Given the description of an element on the screen output the (x, y) to click on. 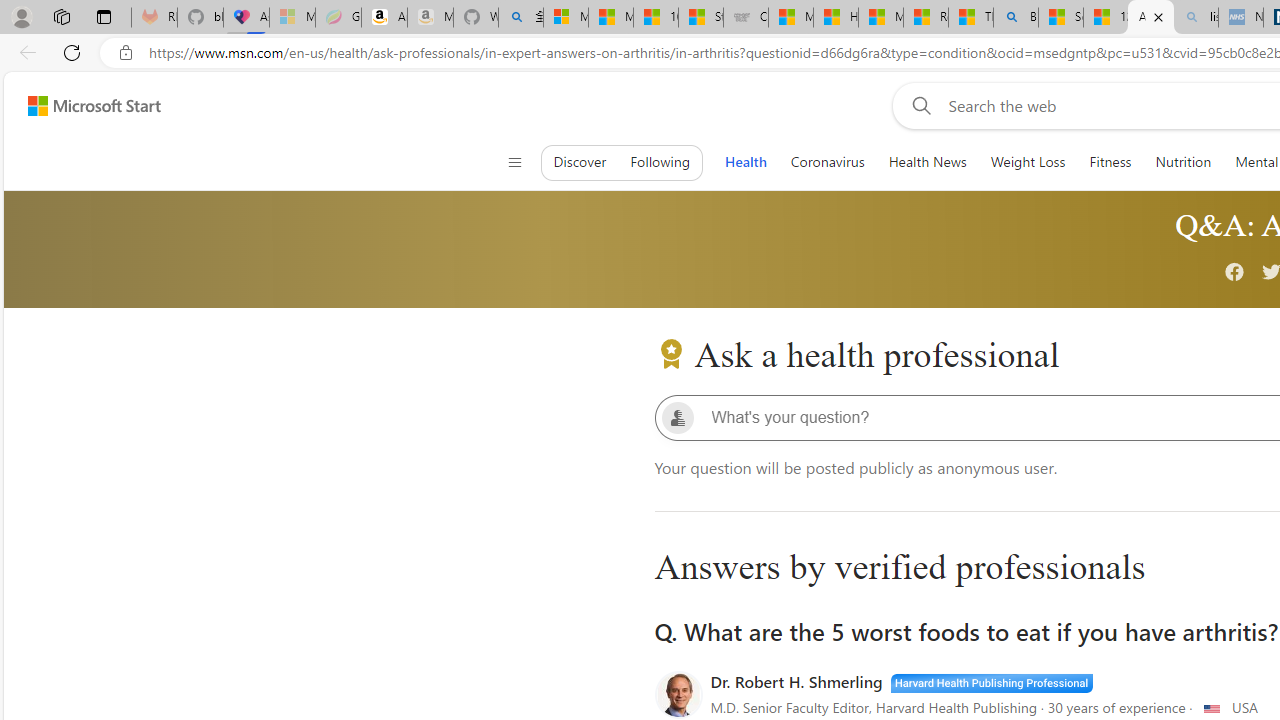
Harvard health publishing professional (991, 681)
Health News (926, 161)
Coronavirus (827, 162)
Nutrition (1183, 161)
Nutrition (1183, 162)
